Given the description of an element on the screen output the (x, y) to click on. 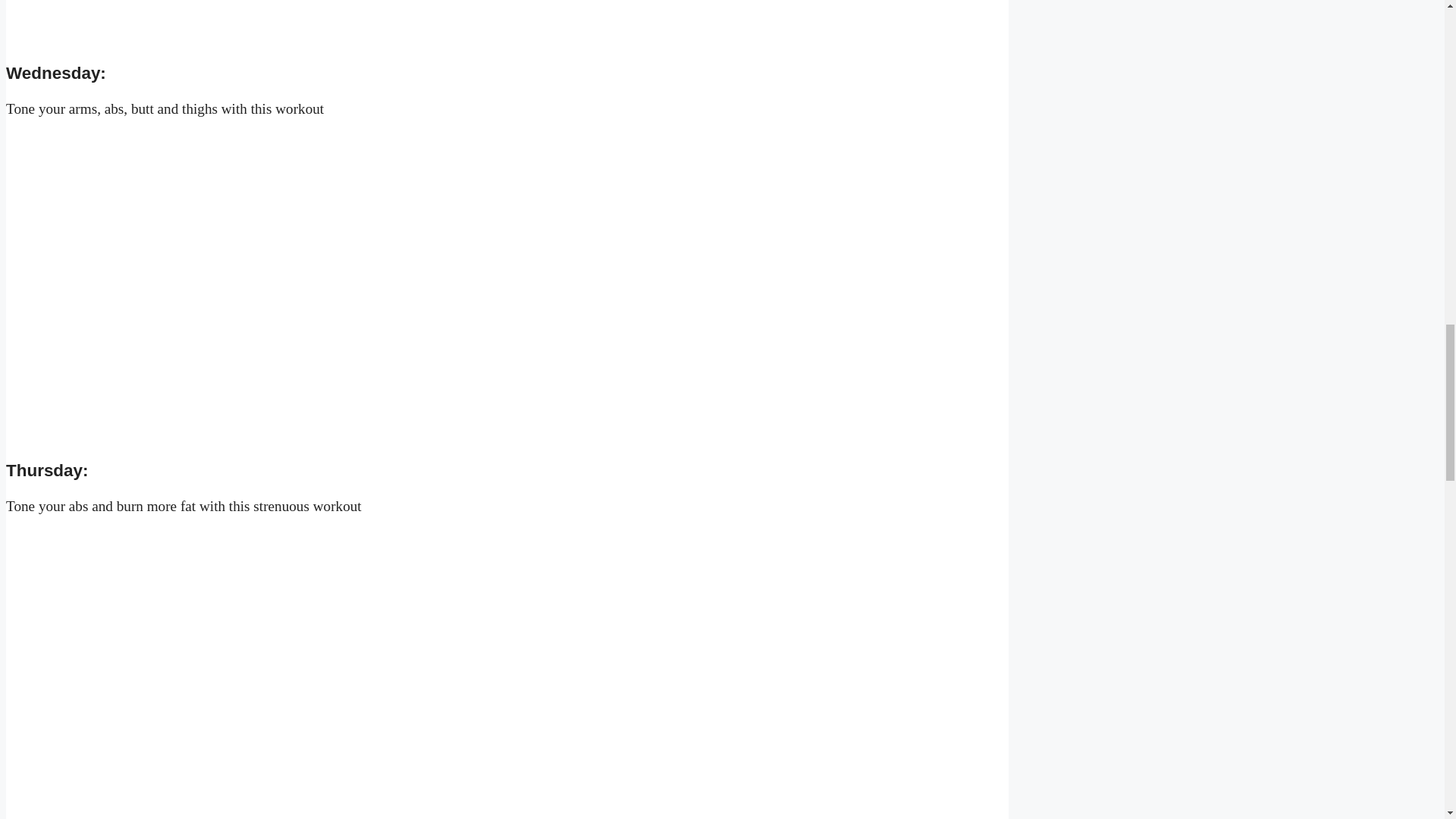
Are you trying to lose weight easily? Take this free quiz (507, 37)
